Given the description of an element on the screen output the (x, y) to click on. 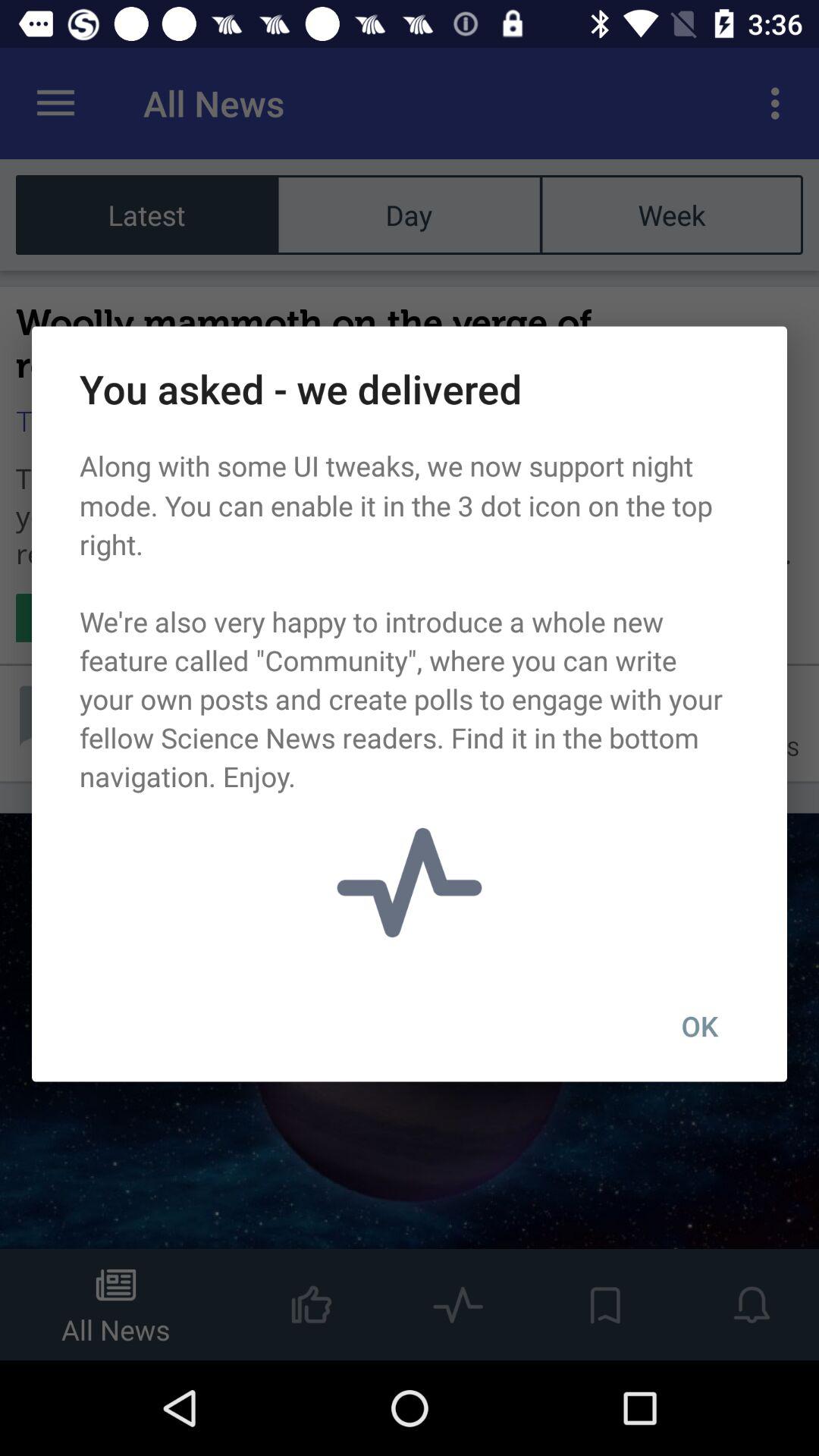
open item below along with some item (699, 1025)
